Given the description of an element on the screen output the (x, y) to click on. 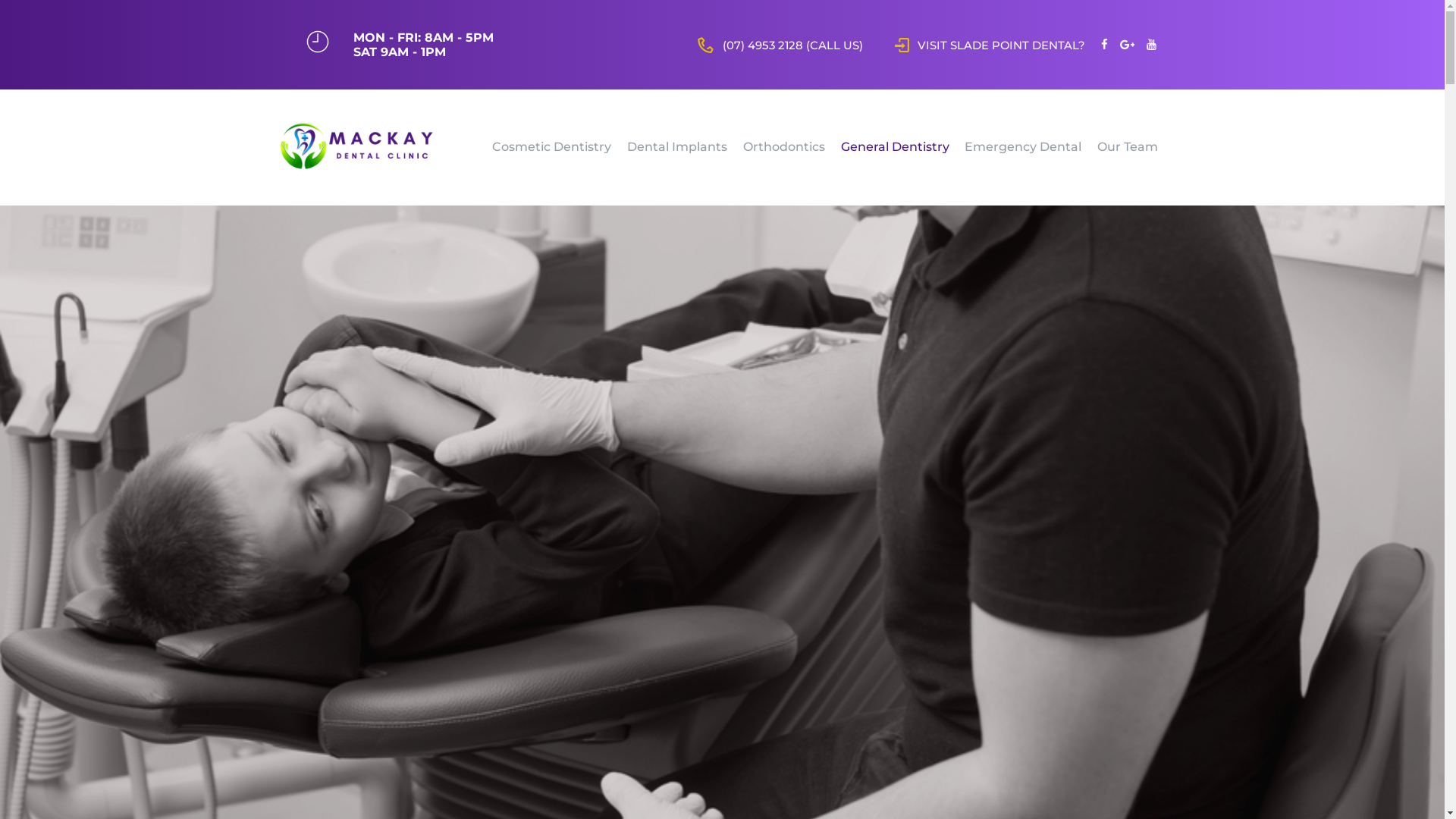
Emergency Dental Element type: text (1023, 146)
VISIT SLADE POINT DENTAL? Element type: text (989, 44)
Our Team Element type: text (1127, 146)
(07) 4953 2128 (CALL US) Element type: text (779, 44)
Cosmetic Dentistry Element type: text (551, 146)
Orthodontics Element type: text (783, 146)
Dental Implants Element type: text (677, 146)
General Dentistry Element type: text (894, 146)
